Given the description of an element on the screen output the (x, y) to click on. 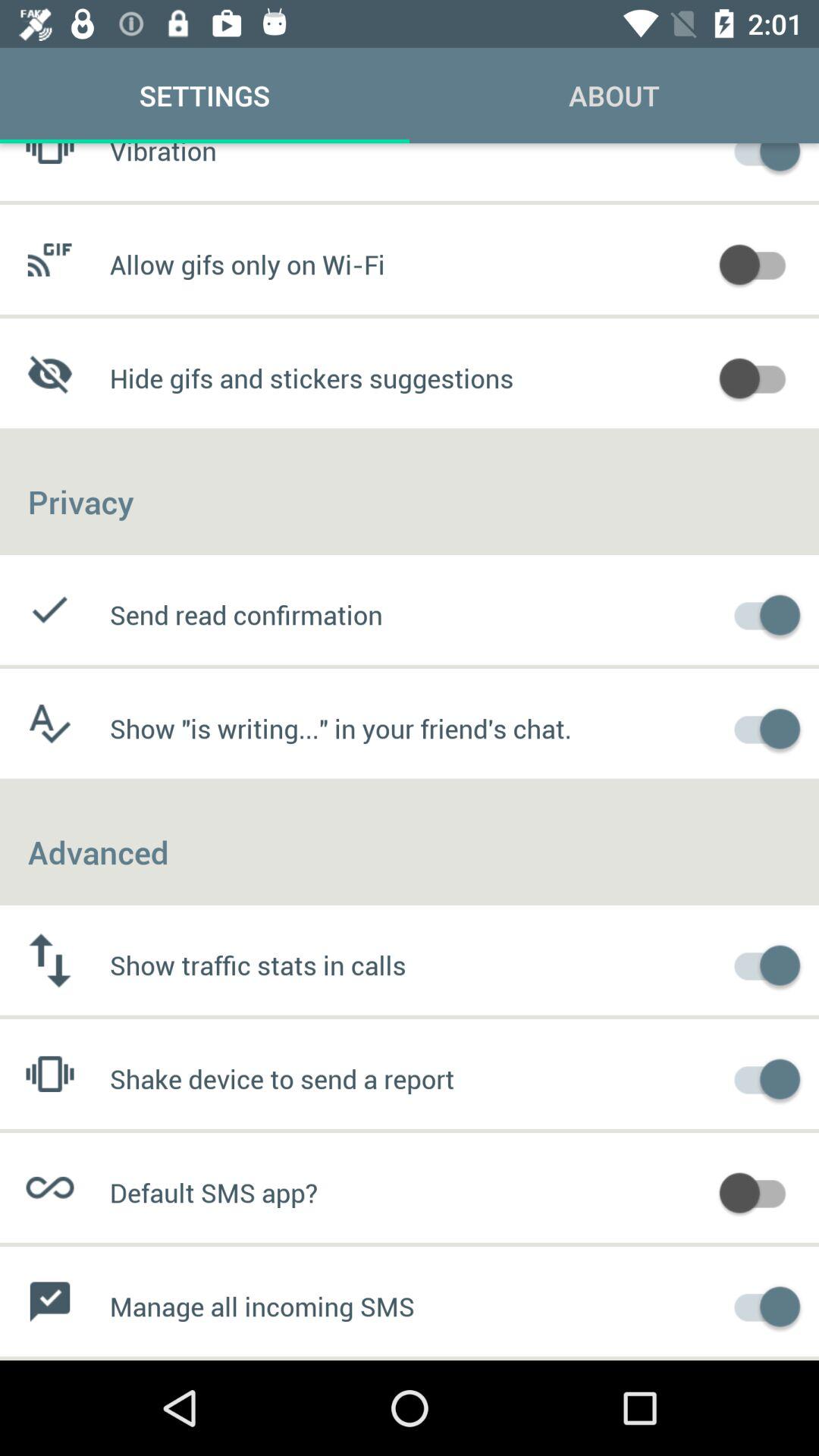
toggle option (759, 1077)
